Given the description of an element on the screen output the (x, y) to click on. 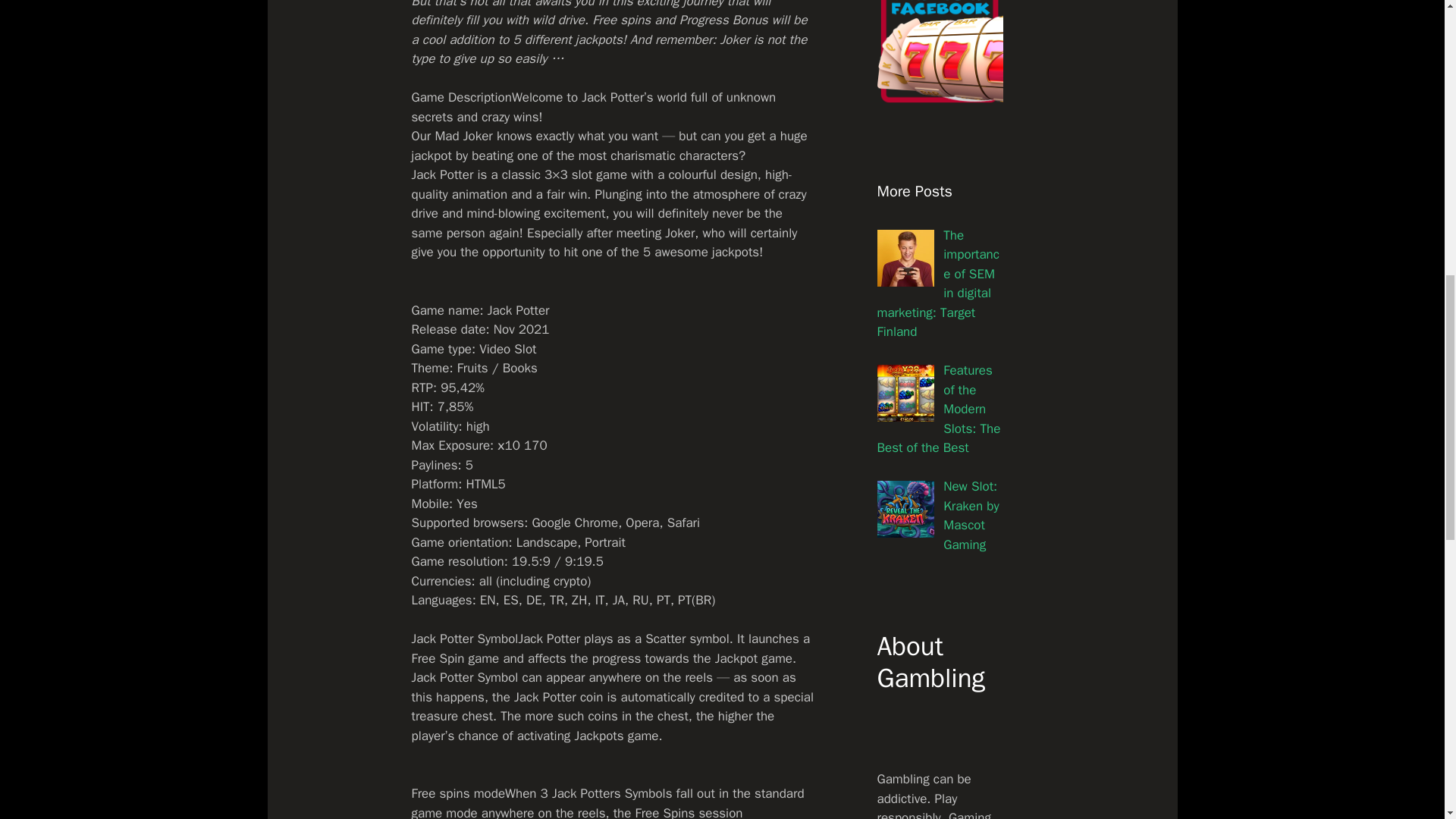
Scroll back to top (1406, 720)
The importance of SEM in digital marketing: Target Finland (937, 283)
Features of the Modern Slots: The Best of the Best (938, 408)
